Given the description of an element on the screen output the (x, y) to click on. 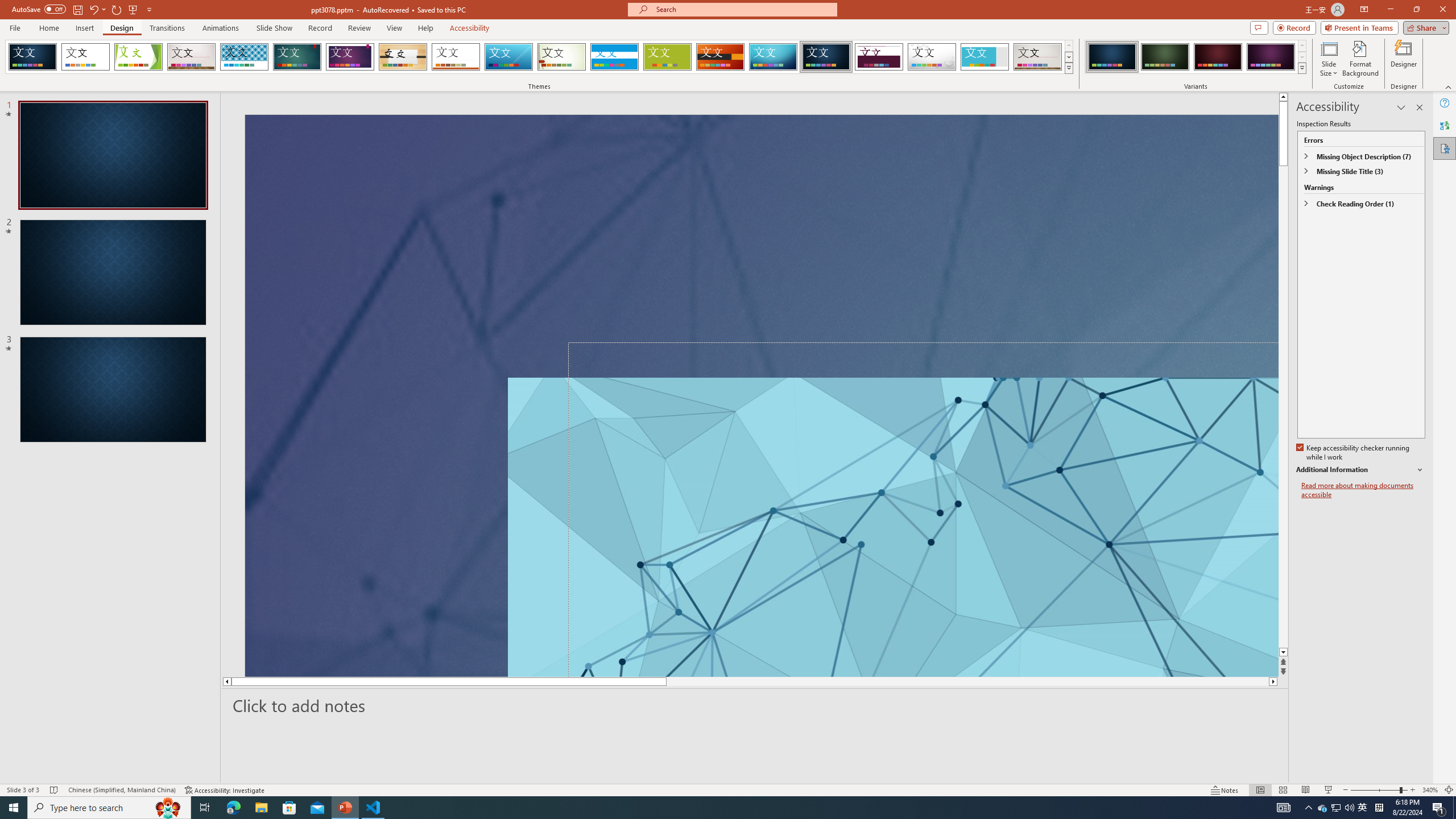
Dividend (879, 56)
Format Background (1360, 58)
Circuit (772, 56)
Office Theme (85, 56)
Themes (1068, 67)
